Given the description of an element on the screen output the (x, y) to click on. 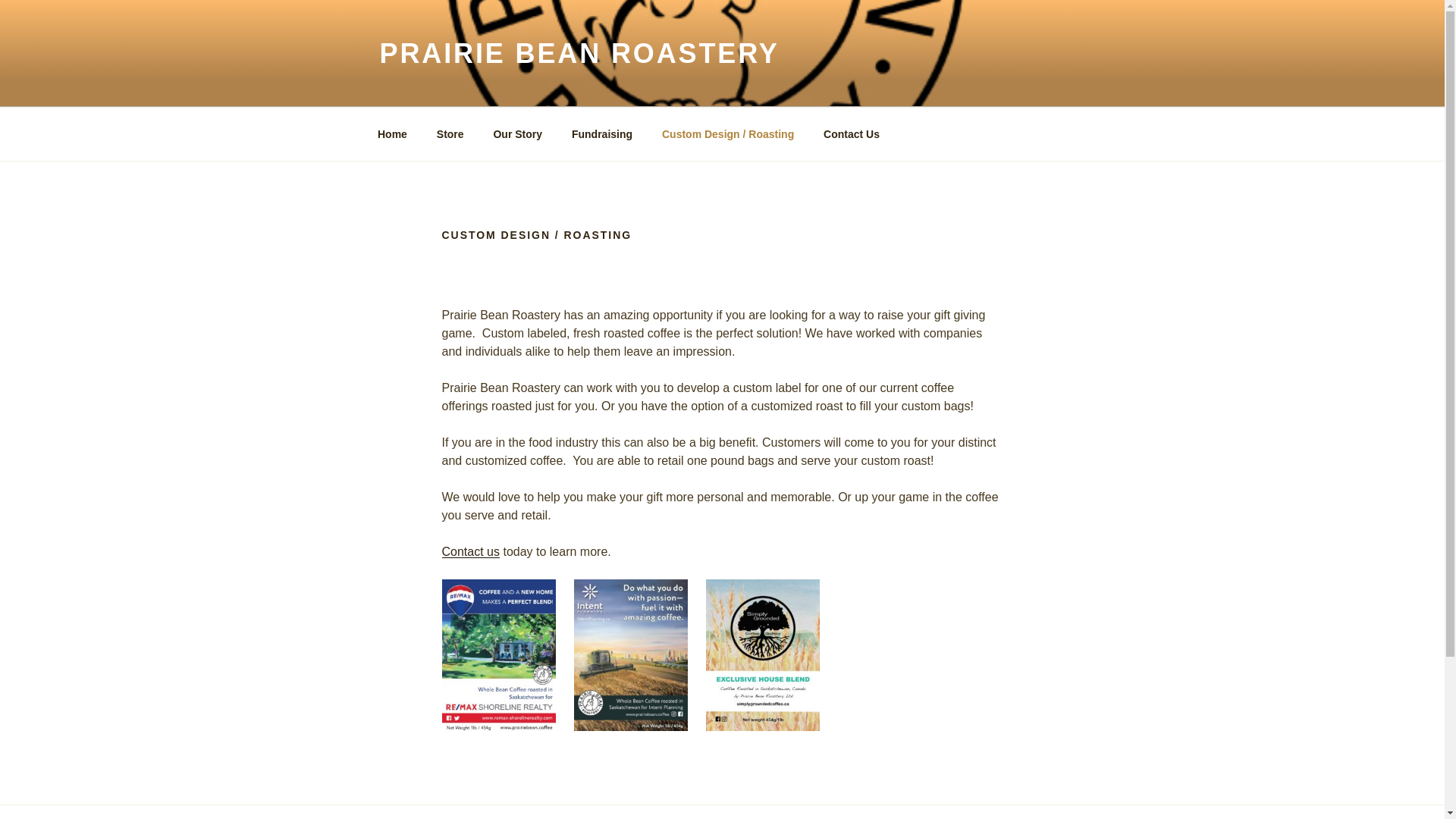
Our Story (518, 133)
Store (450, 133)
PRAIRIE BEAN ROASTERY (578, 52)
Contact Us (851, 133)
Home (392, 133)
Fundraising (601, 133)
Contact us (470, 551)
